Given the description of an element on the screen output the (x, y) to click on. 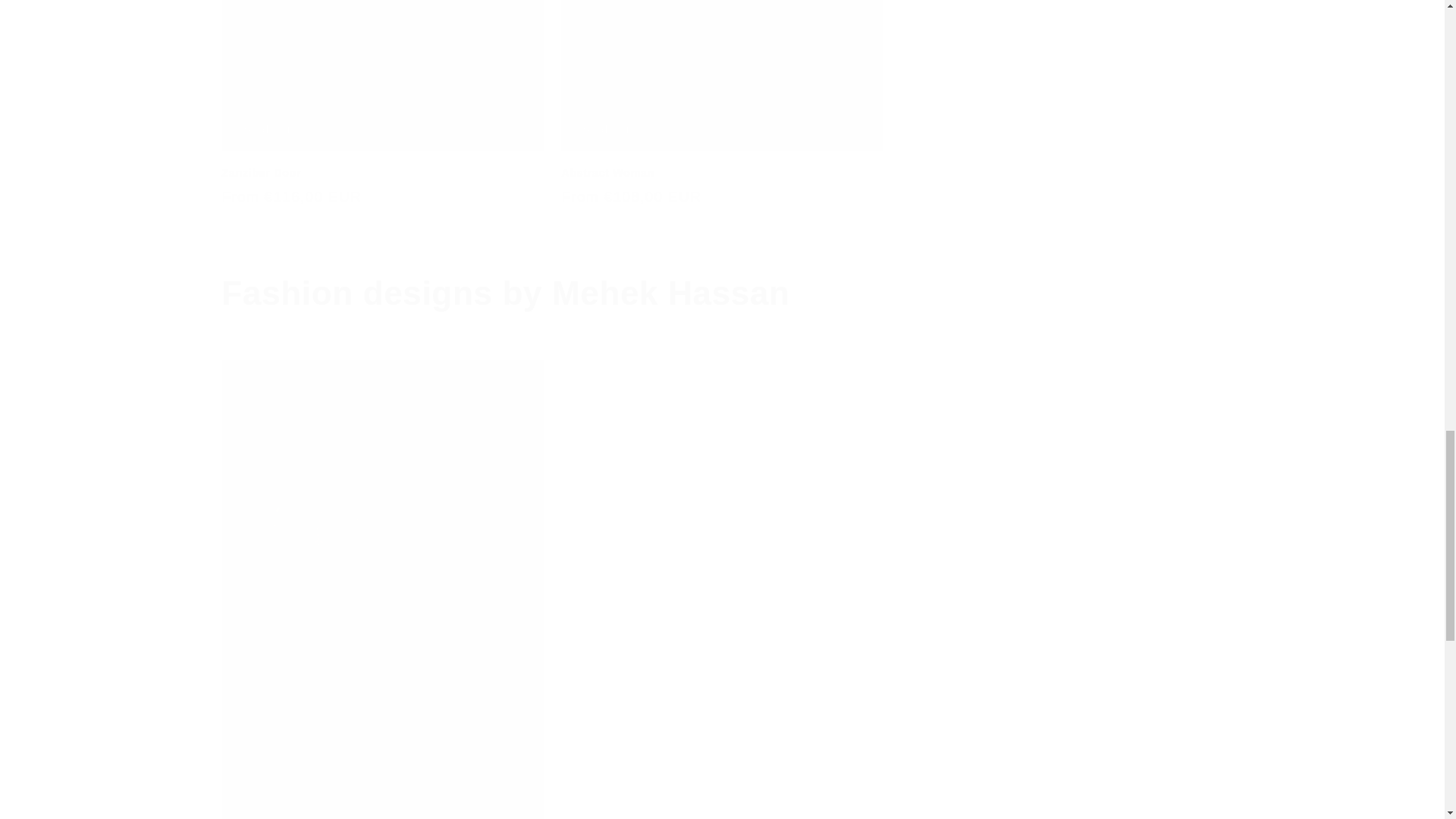
Fashion designs by Mehek Hassan (722, 292)
Abstract Woman (721, 173)
Zanzibar Door (382, 173)
